Given the description of an element on the screen output the (x, y) to click on. 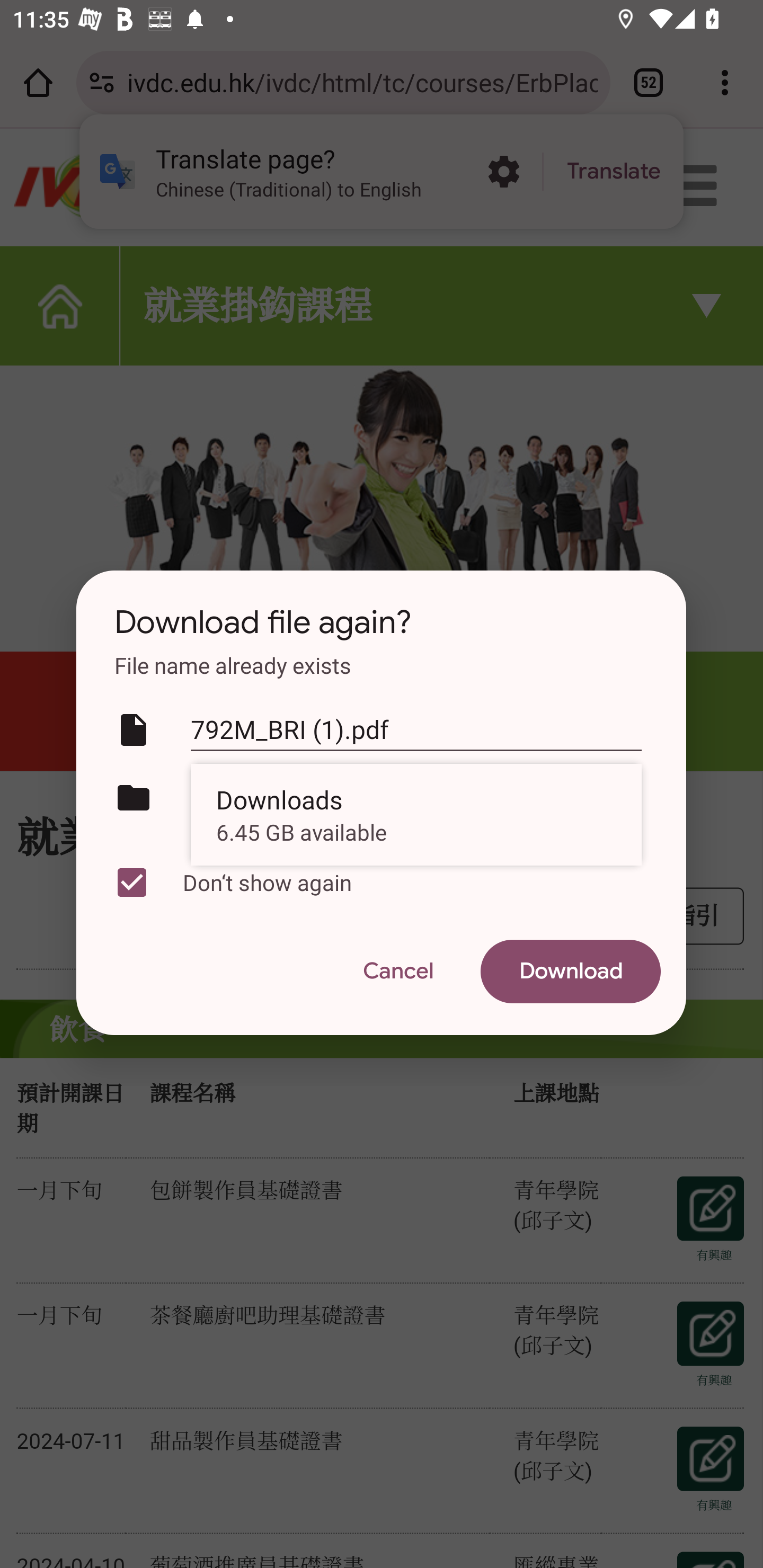
Downloads 6.45 GB available (415, 814)
